Given the description of an element on the screen output the (x, y) to click on. 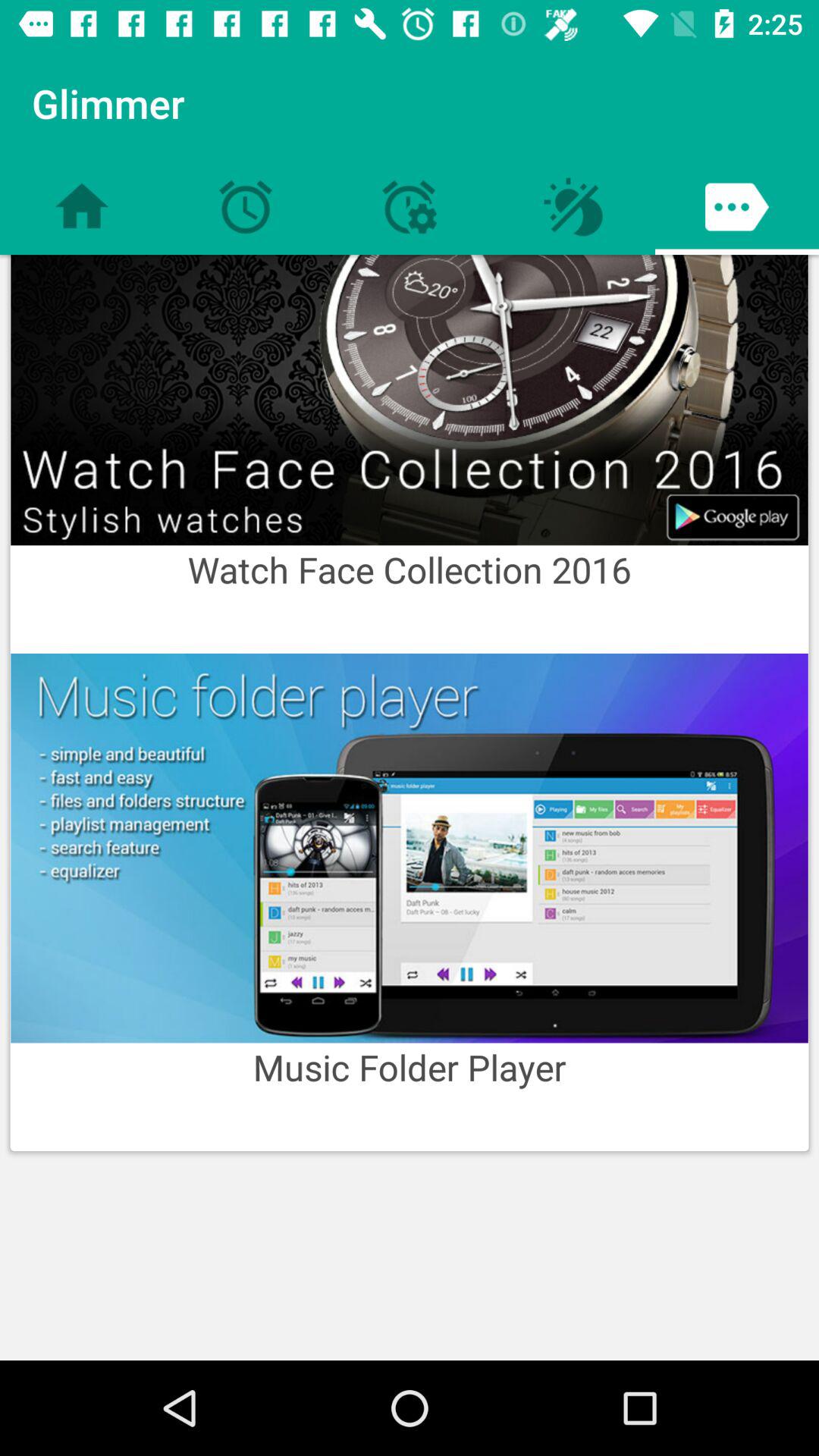
open image (409, 399)
